Given the description of an element on the screen output the (x, y) to click on. 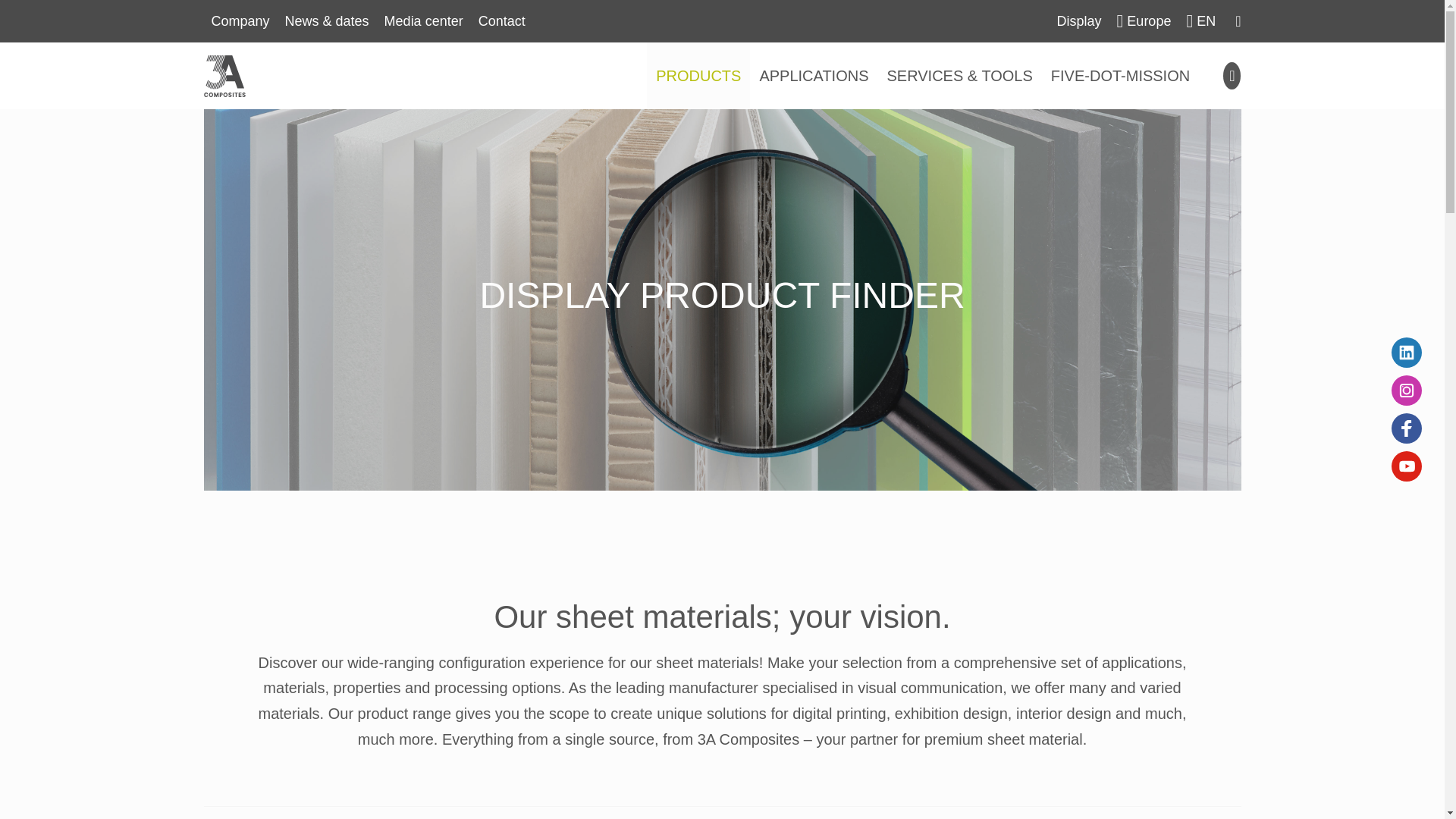
Company (239, 21)
Europe (1144, 21)
Display (1079, 21)
Contact (501, 21)
Display (1079, 21)
Contact (501, 21)
Europe (1144, 21)
Media center (423, 21)
Company (239, 21)
